Given the description of an element on the screen output the (x, y) to click on. 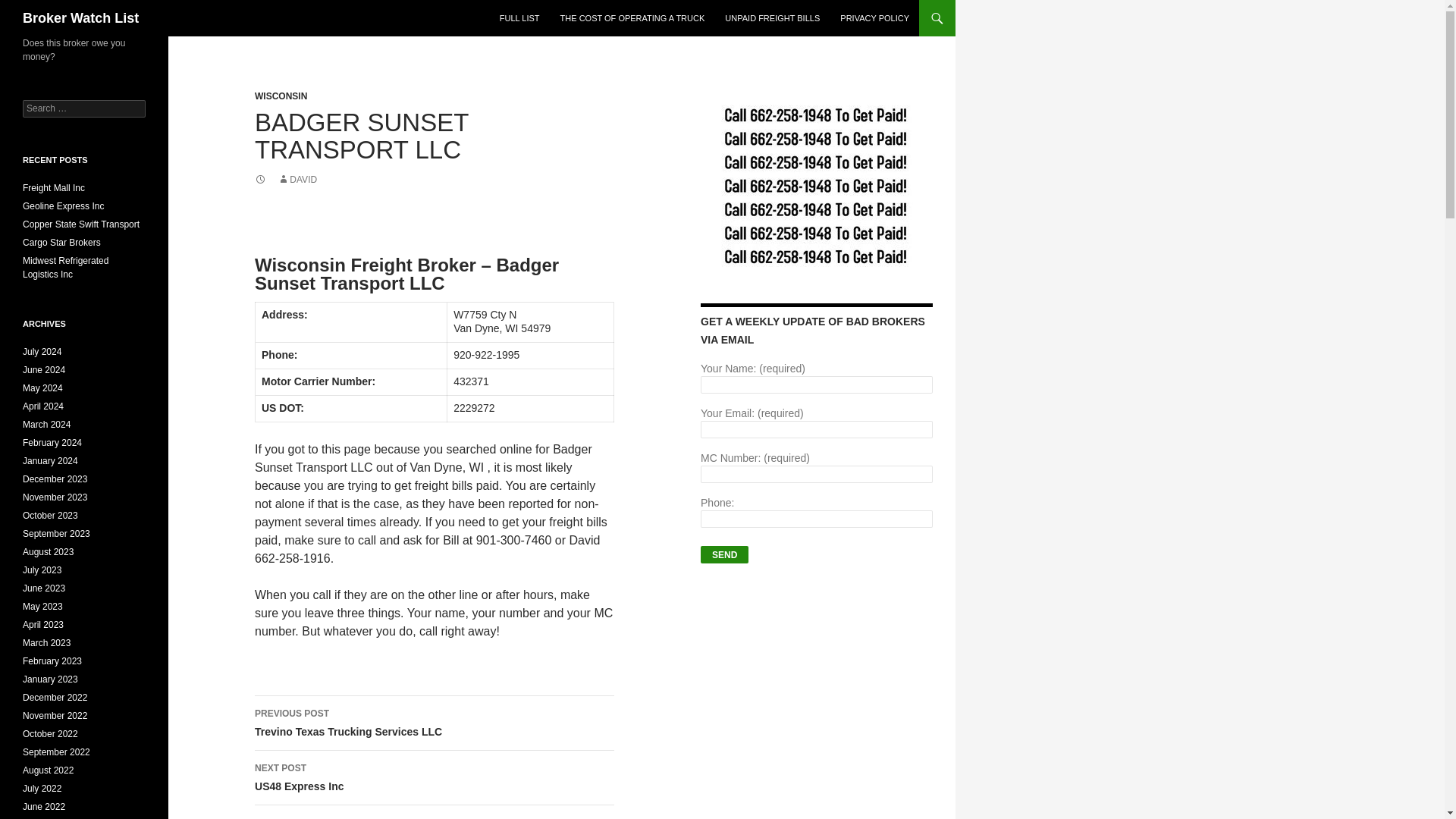
Send (724, 554)
February 2023 (52, 661)
December 2023 (55, 479)
March 2023 (46, 643)
FULL LIST (519, 18)
THE COST OF OPERATING A TRUCK (632, 18)
Cargo Star Brokers (61, 242)
August 2023 (48, 552)
Search (30, 8)
July 2024 (42, 351)
October 2023 (50, 515)
November 2023 (55, 497)
PRIVACY POLICY (874, 18)
May 2024 (42, 388)
UNPAID FREIGHT BILLS (772, 18)
